Given the description of an element on the screen output the (x, y) to click on. 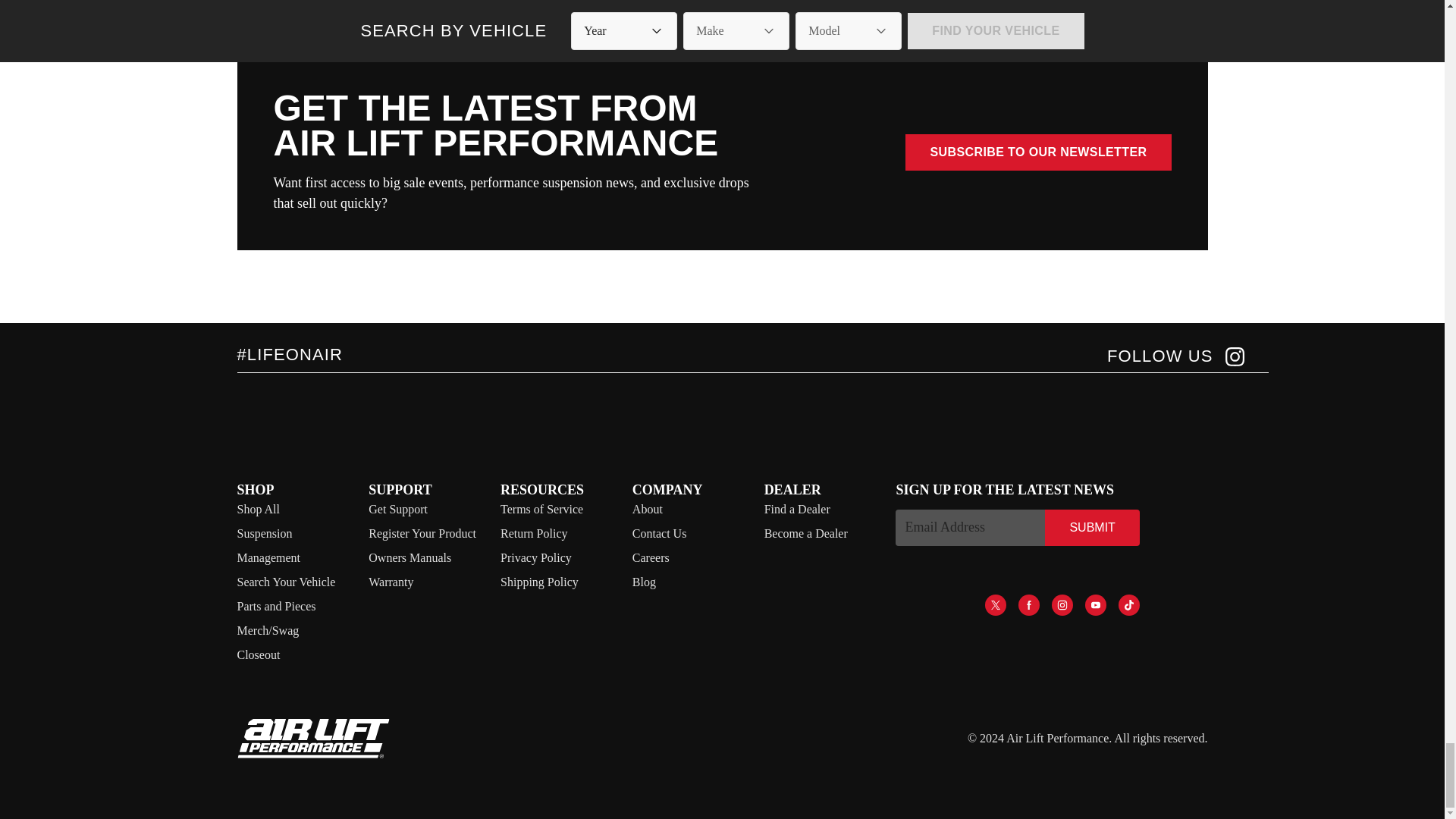
FOLLOW US (1174, 356)
Register Your Product (422, 533)
Terms of Service (541, 508)
Shop All (257, 508)
Warranty (390, 581)
Parts and Pieces (275, 605)
Search Your Vehicle (284, 581)
ATW: SOUTH AFRICA - A TRIPLE THREAT OF GOLF RS (974, 3)
Closeout (257, 654)
Management (267, 557)
